Given the description of an element on the screen output the (x, y) to click on. 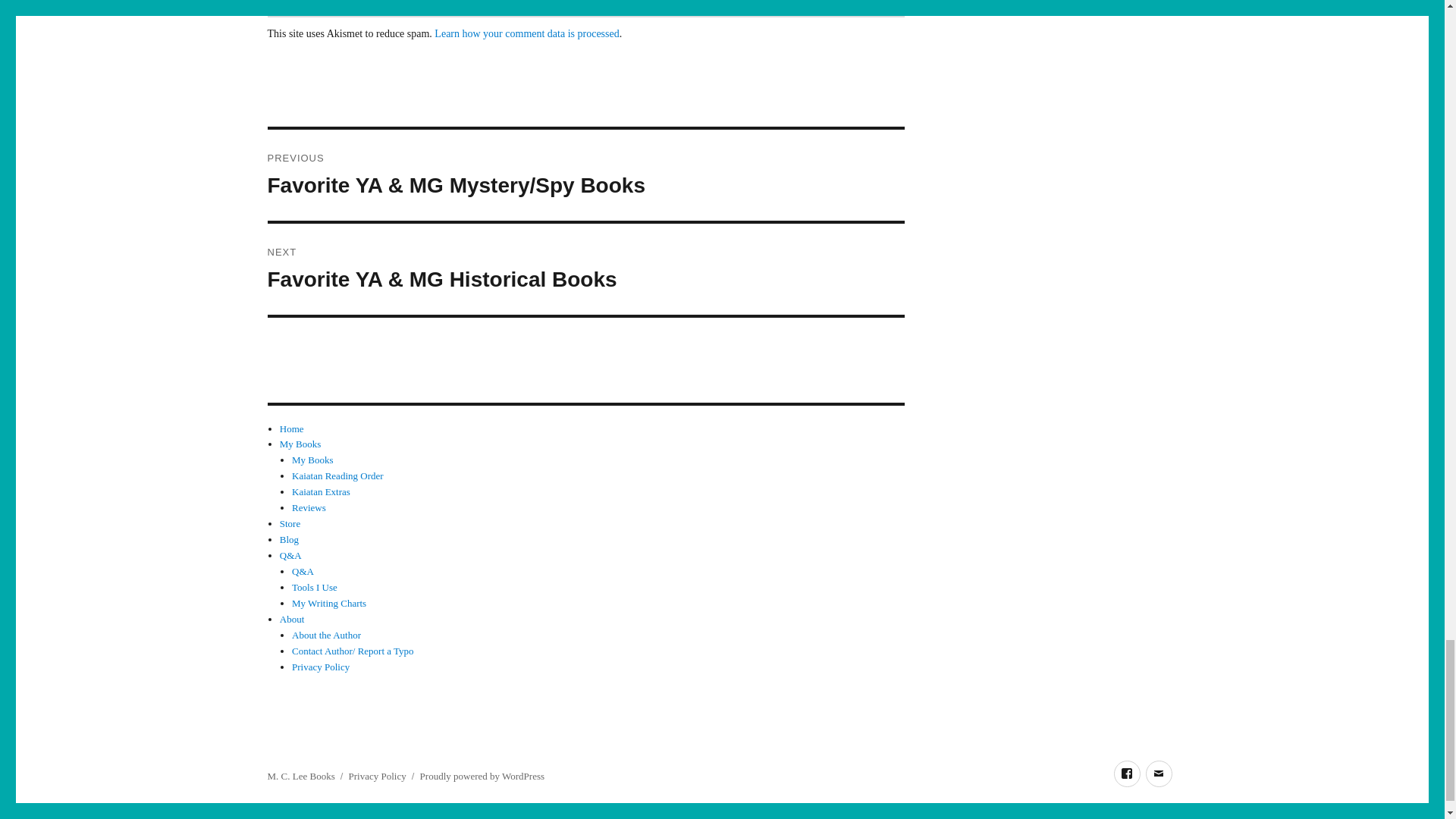
Learn how your comment data is processed (525, 33)
Home (291, 428)
My Books (300, 443)
